Given the description of an element on the screen output the (x, y) to click on. 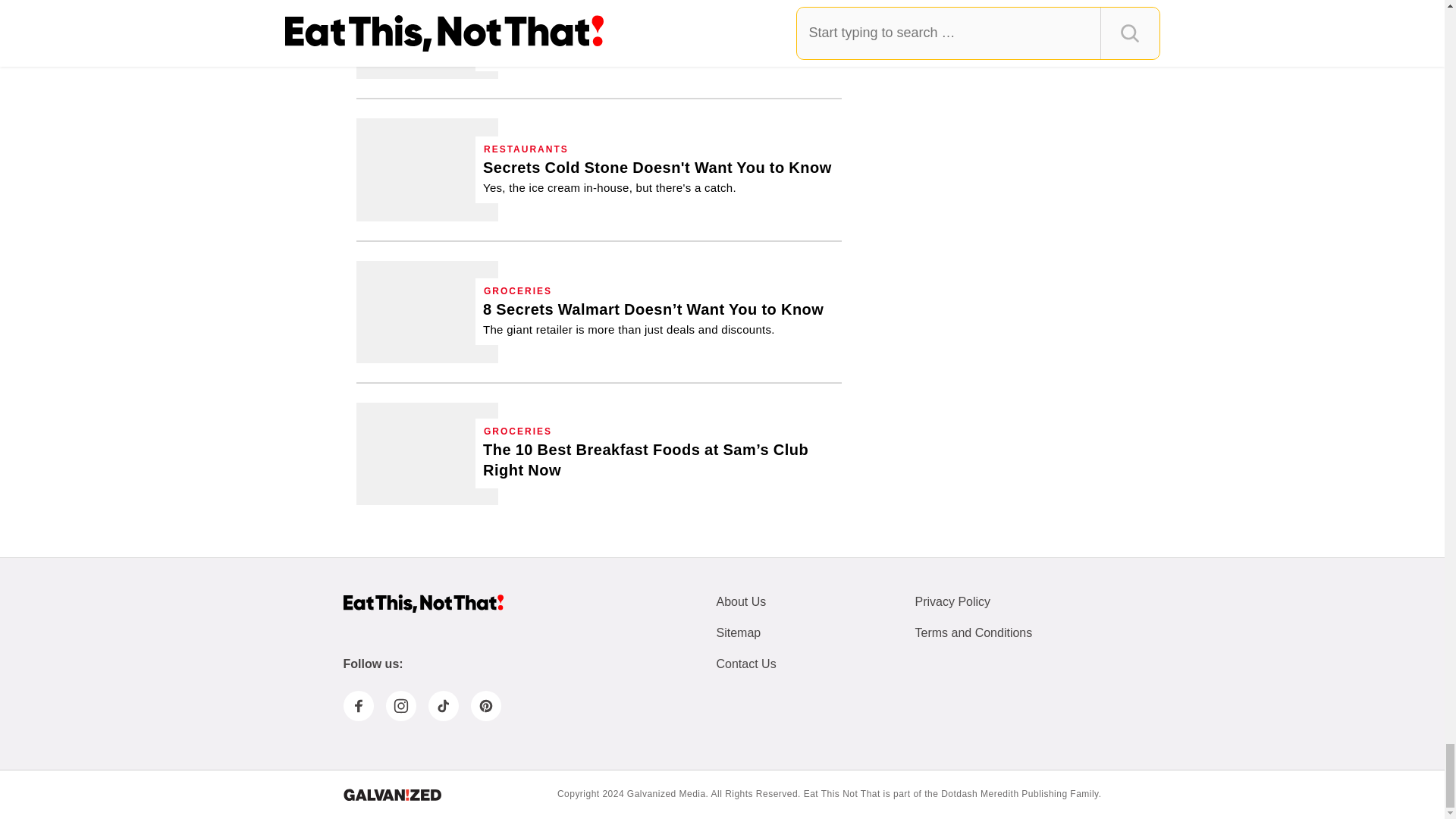
8 Secrets Walmart Doesn't Want You to Know (653, 318)
The 10 Best Breakfast Foods at Sam's Club Right Now (426, 453)
8 Secrets Walmart Doesn't Want You to Know (426, 312)
This Popular Chocolate Brand Is Seeing Sales Fall (426, 39)
13 Secrets Cold Stone Doesn't Want You to Know (657, 176)
The 10 Best Breakfast Foods at Sam's Club Right Now (658, 459)
13 Secrets Cold Stone Doesn't Want You to Know (426, 168)
This Popular Chocolate Brand Is Seeing Sales Fall (658, 33)
